Given the description of an element on the screen output the (x, y) to click on. 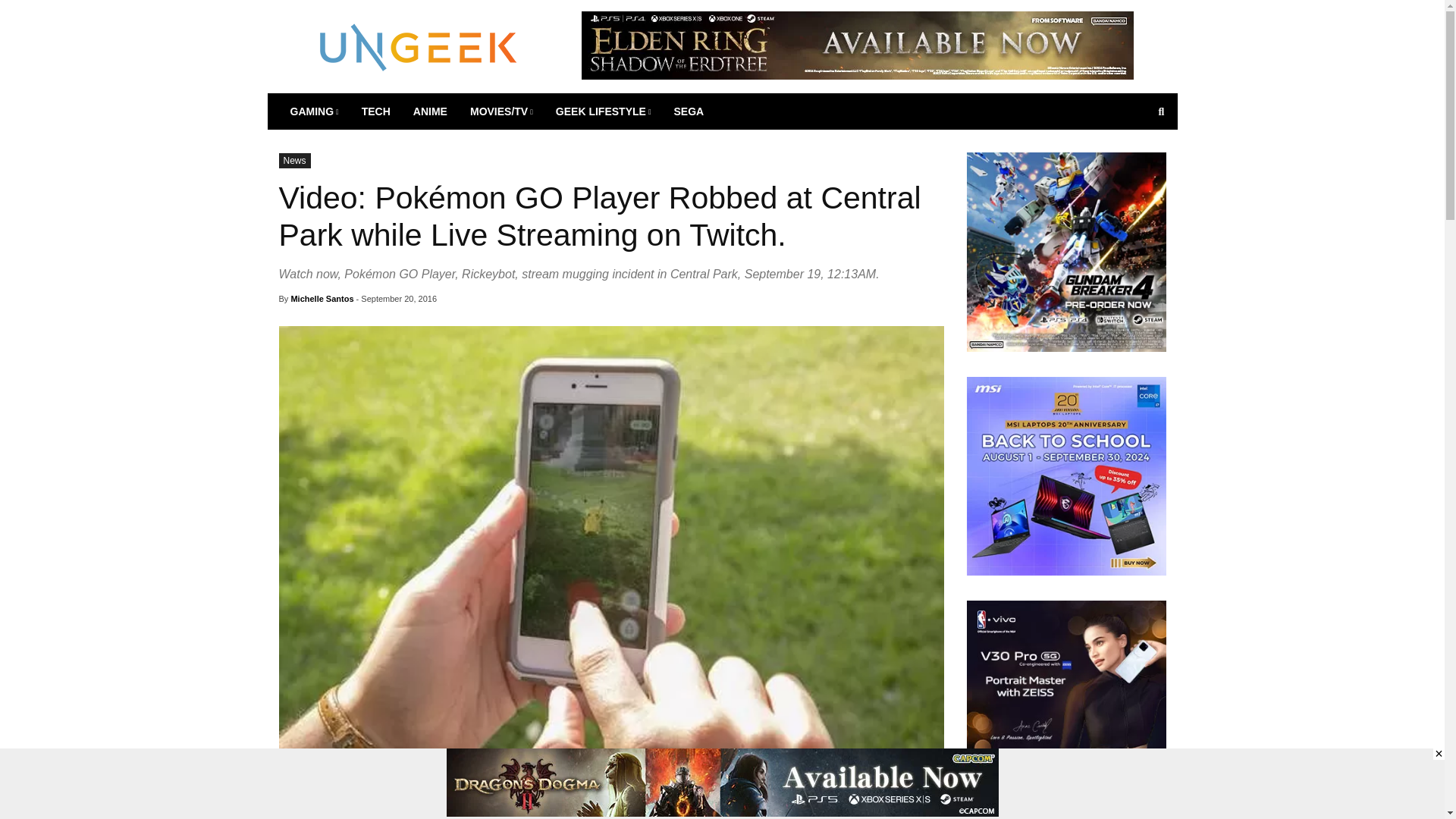
September 20, 2016 (398, 298)
GEEK LIFESTYLE (603, 111)
UnGeek (419, 46)
SEGA (689, 111)
ANIME (429, 111)
Michelle Santos (321, 298)
Posts by Michelle Santos (321, 298)
UnGeek (418, 46)
News (295, 160)
GAMING (314, 111)
